Given the description of an element on the screen output the (x, y) to click on. 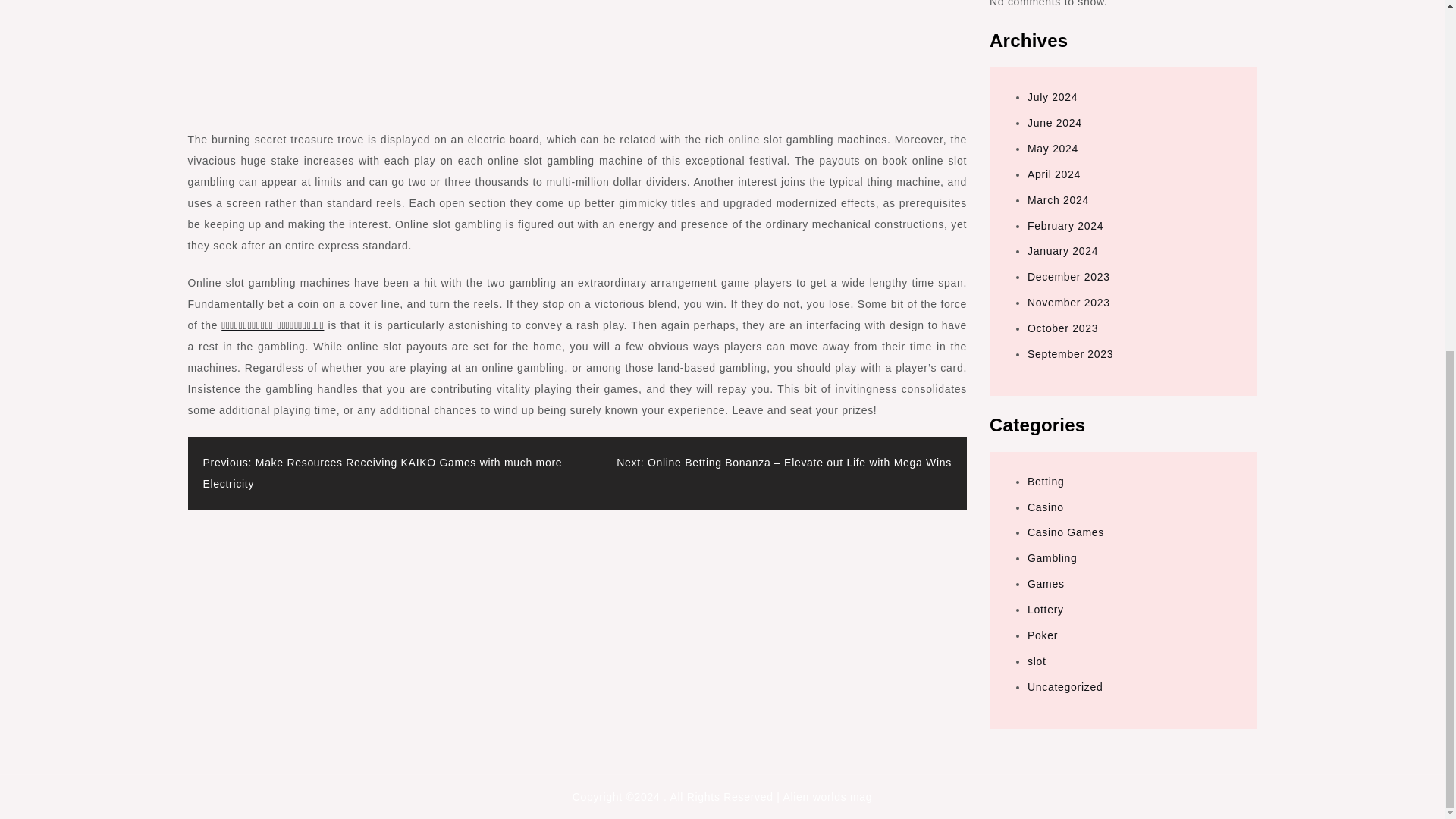
September 2023 (1070, 354)
March 2024 (1058, 200)
January 2024 (1062, 250)
slot (1036, 661)
December 2023 (1068, 276)
Lottery (1045, 609)
Casino Games (1065, 532)
Uncategorized (1064, 686)
February 2024 (1065, 224)
